Given the description of an element on the screen output the (x, y) to click on. 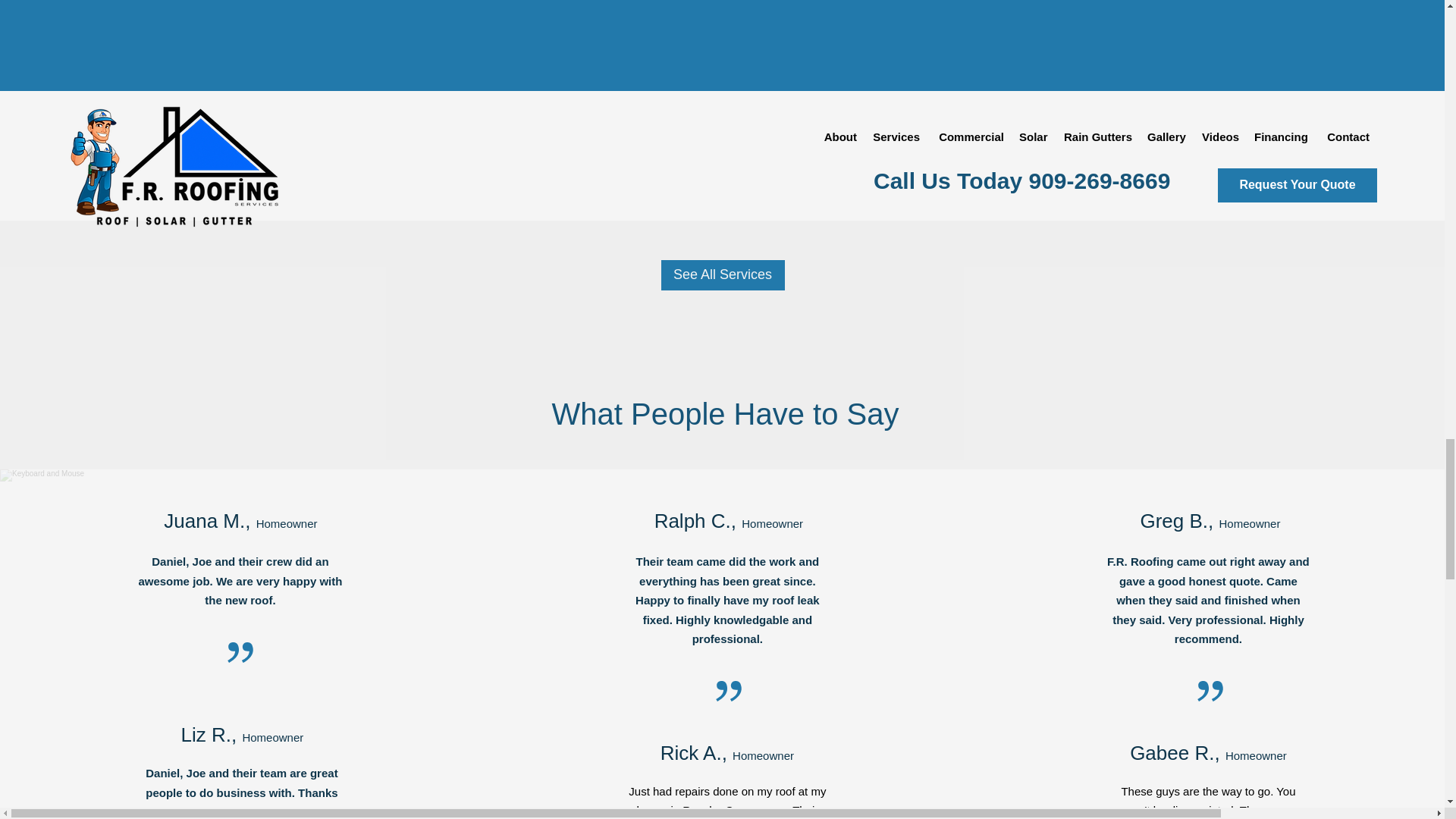
See All Services (722, 275)
